Given the description of an element on the screen output the (x, y) to click on. 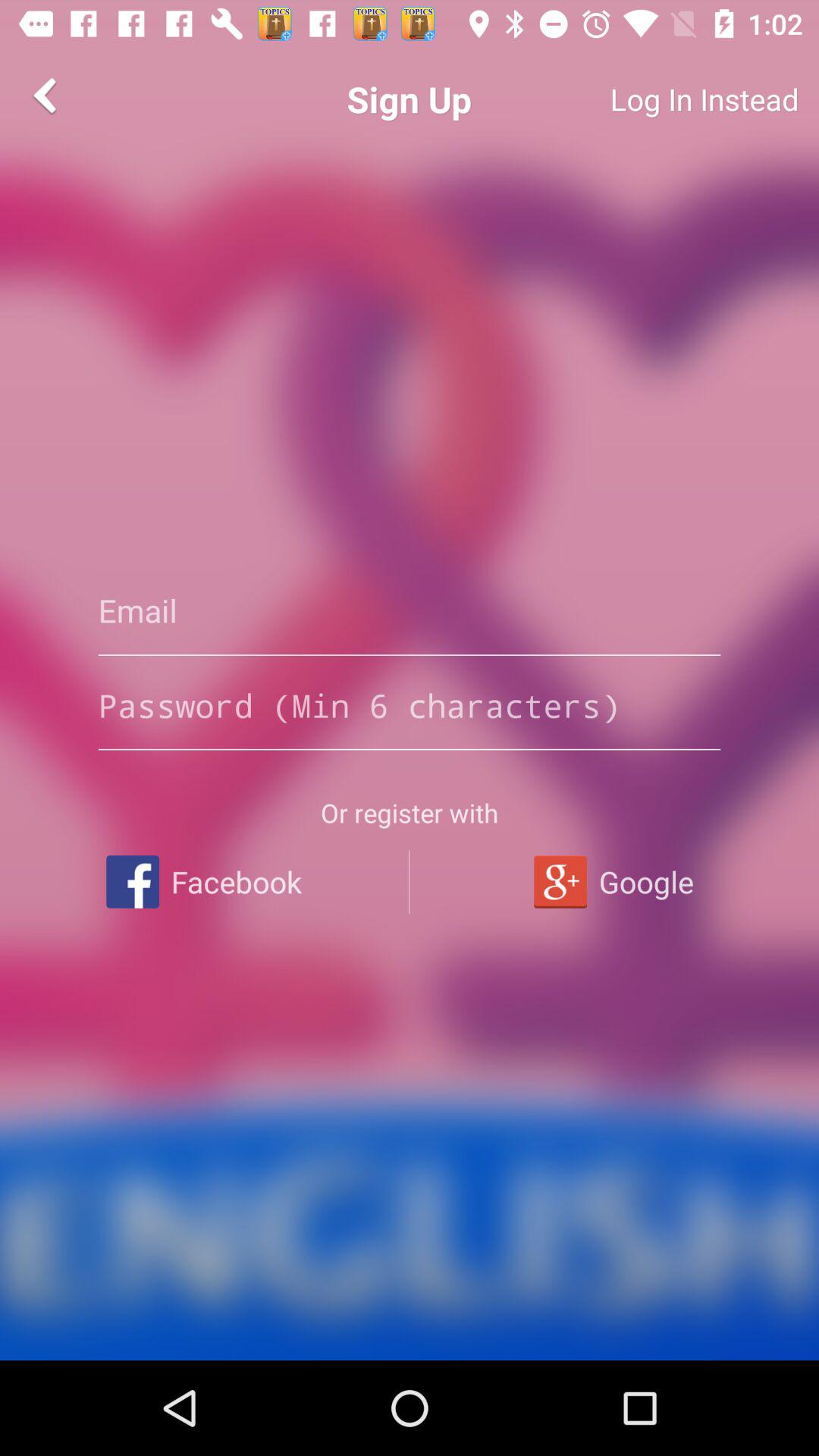
create password with minimum of 6 characters (409, 705)
